Given the description of an element on the screen output the (x, y) to click on. 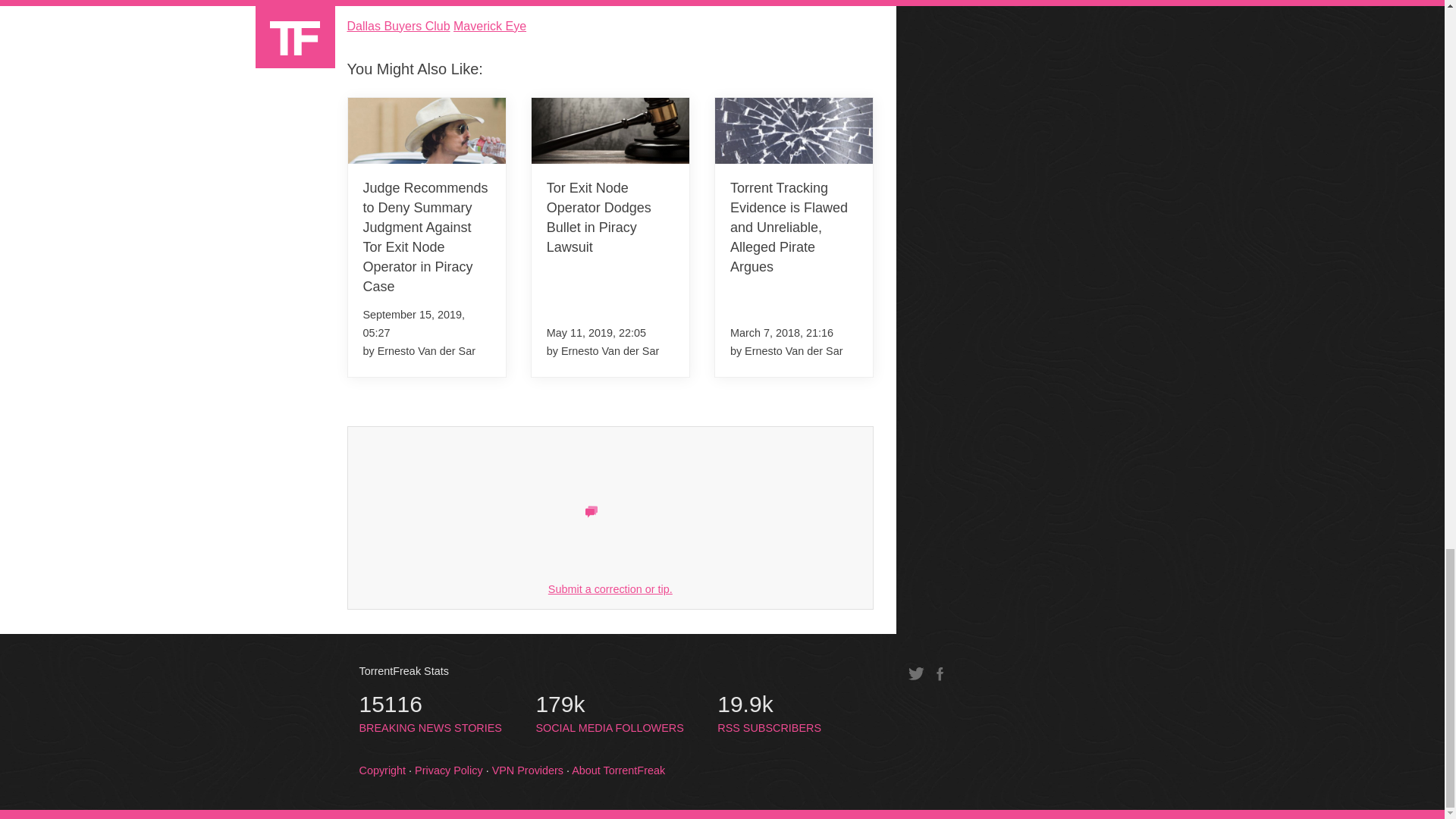
Submit a correction or tip. (610, 589)
Dallas Buyers Club (398, 25)
Maverick Eye (430, 713)
